Given the description of an element on the screen output the (x, y) to click on. 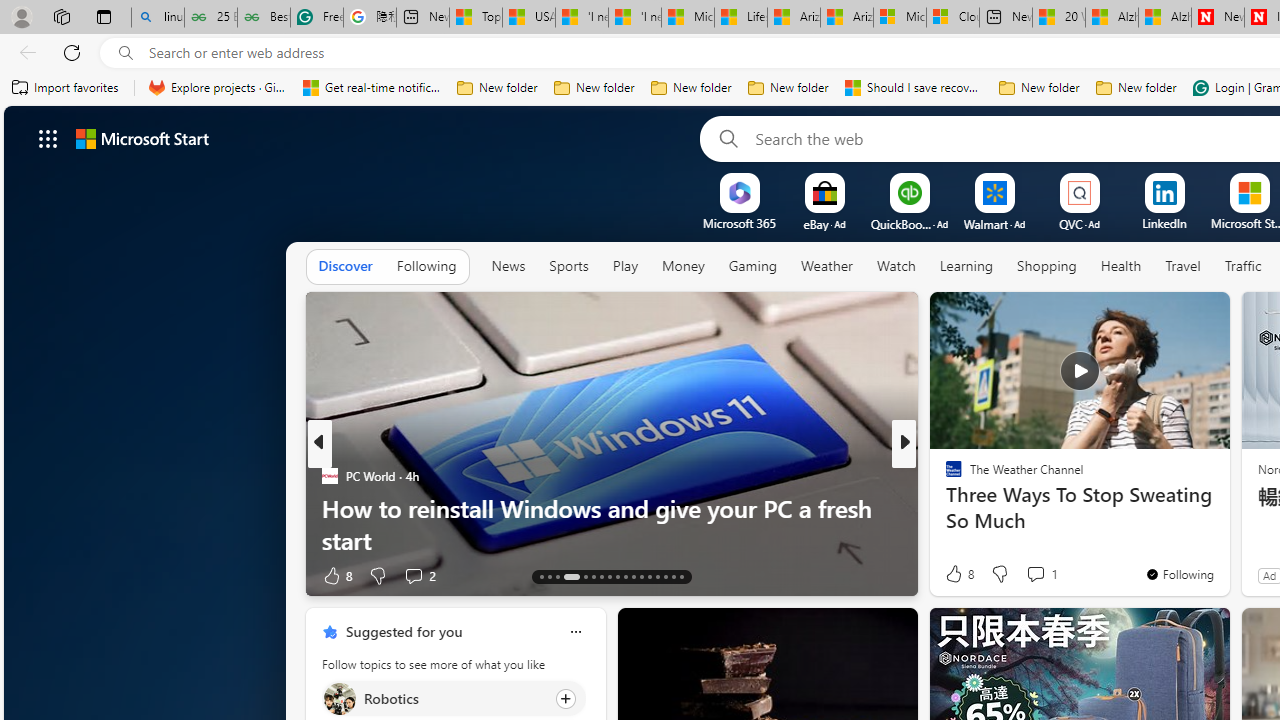
AutomationID: tab-14 (549, 576)
News (507, 267)
Outdoor Revival (944, 507)
INSIDER (944, 475)
Click to follow topic Robotics (453, 698)
Shopping (1047, 265)
Watch (895, 265)
Wealth of Geeks (944, 475)
View comments 12 Comment (1051, 574)
Import favorites (65, 88)
Microsoft start (142, 138)
